Given the description of an element on the screen output the (x, y) to click on. 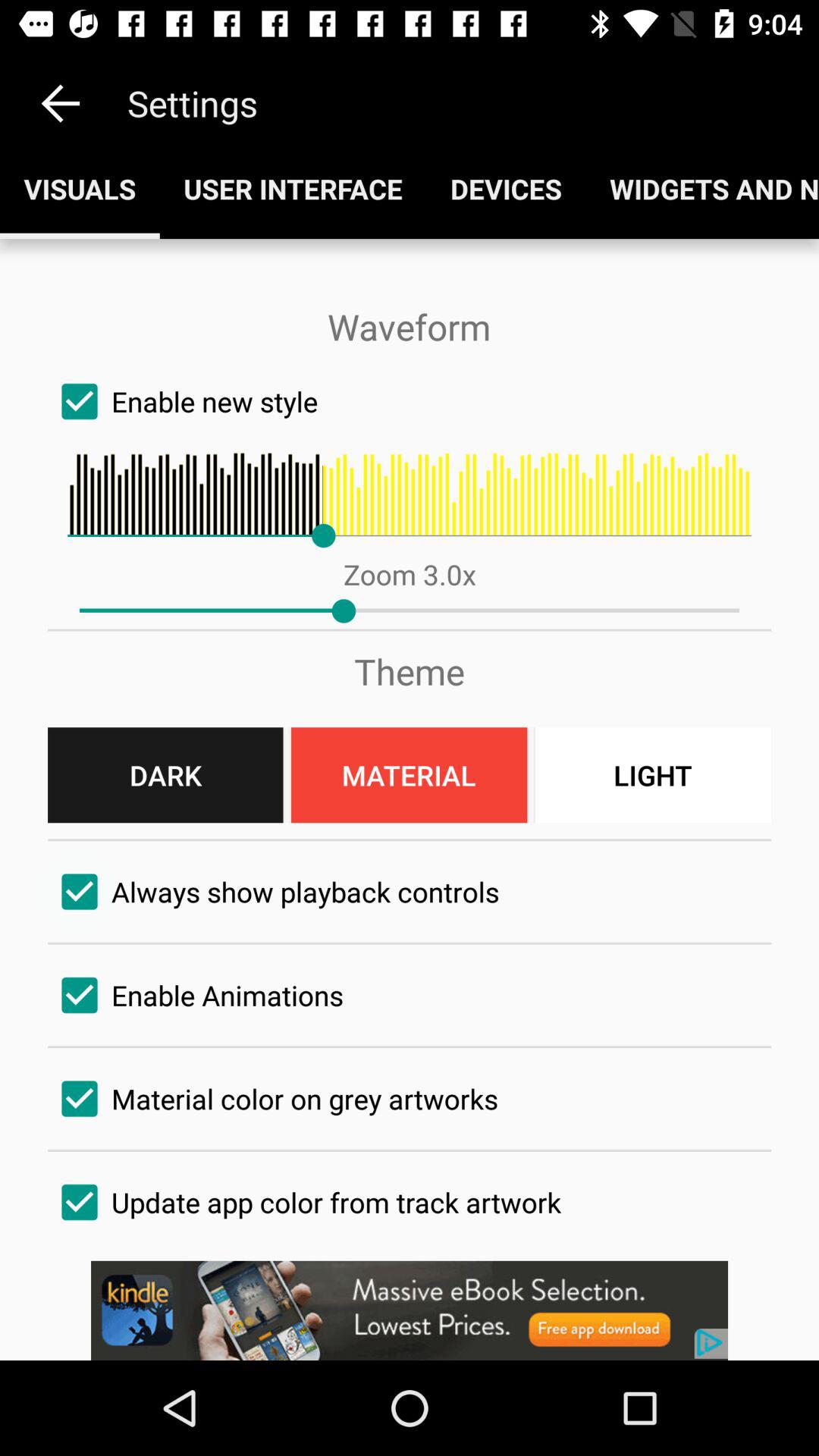
goes to amazon.com (409, 1310)
